Given the description of an element on the screen output the (x, y) to click on. 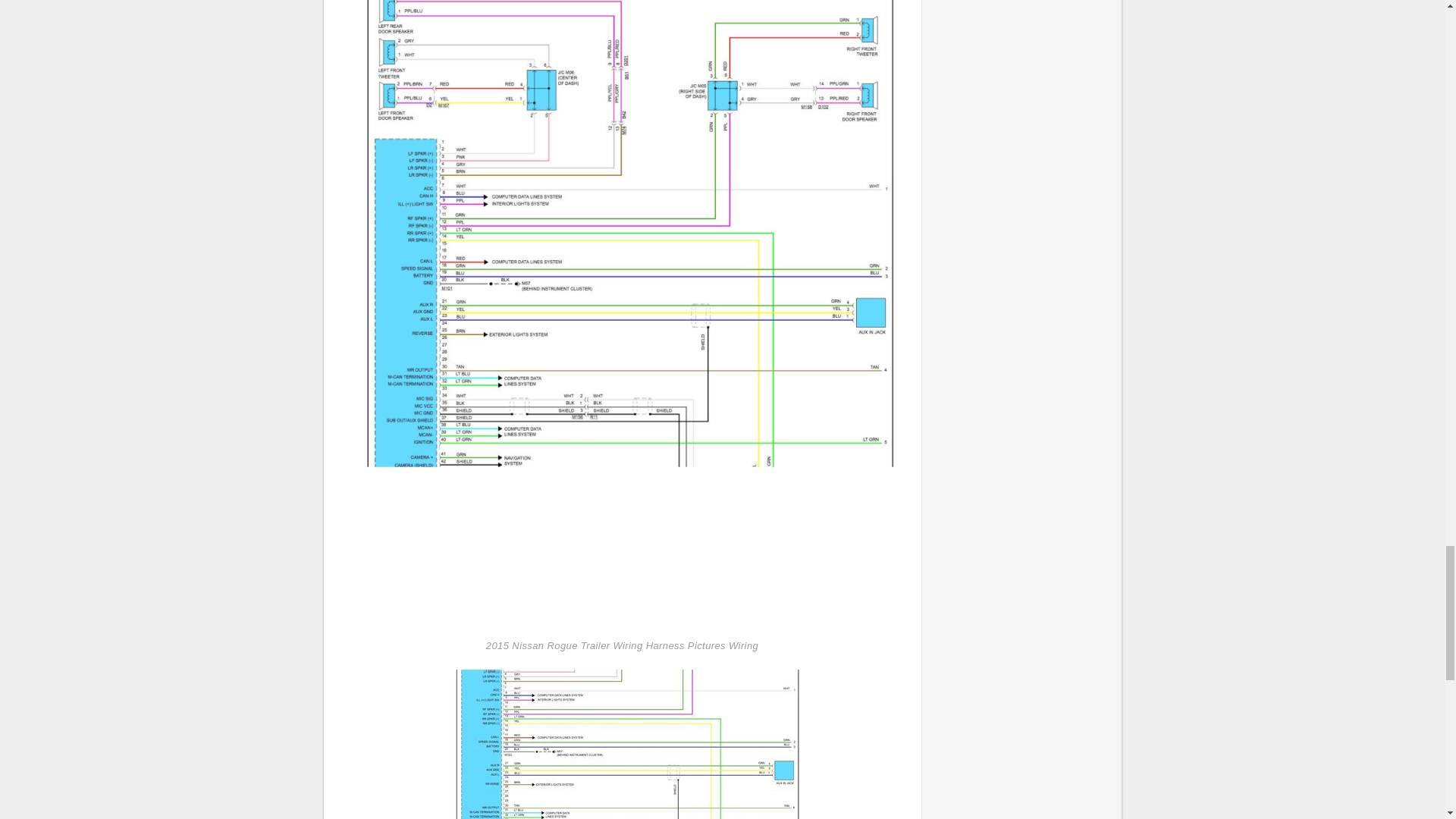
2015 Nissan Rogue Trailer Wiring Harness Pictures Wiring (622, 310)
DIAGRAM Nissan Rogue 2017 User Wiring Diagram FULL (622, 744)
DIAGRAM Nissan Rogue 2017 User Wiring Diagram FULL (622, 762)
